Given the description of an element on the screen output the (x, y) to click on. 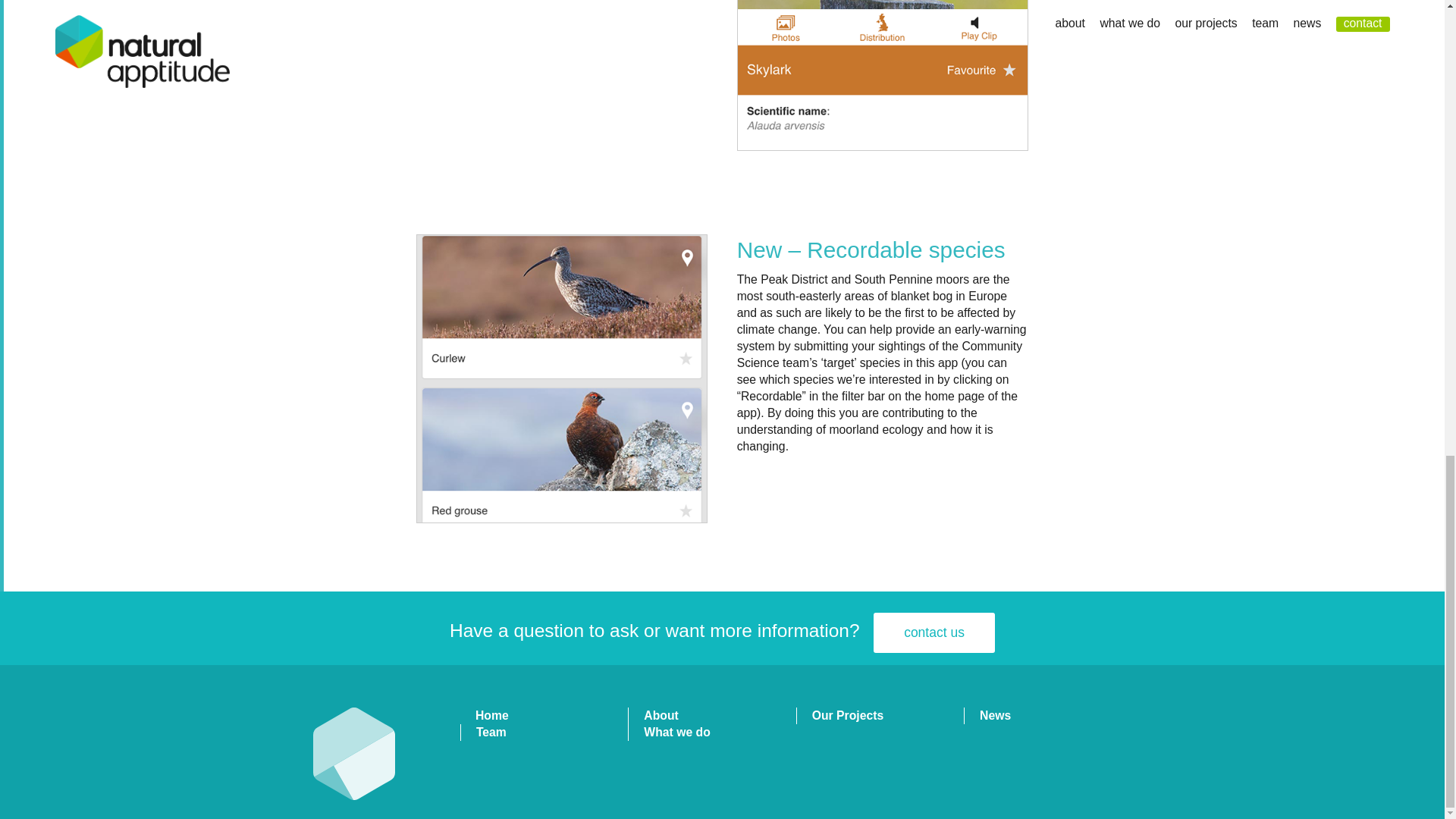
contact us (933, 632)
News (994, 715)
Our Projects (847, 715)
About (660, 715)
What we do (676, 731)
Team (491, 731)
Home (492, 715)
